Given the description of an element on the screen output the (x, y) to click on. 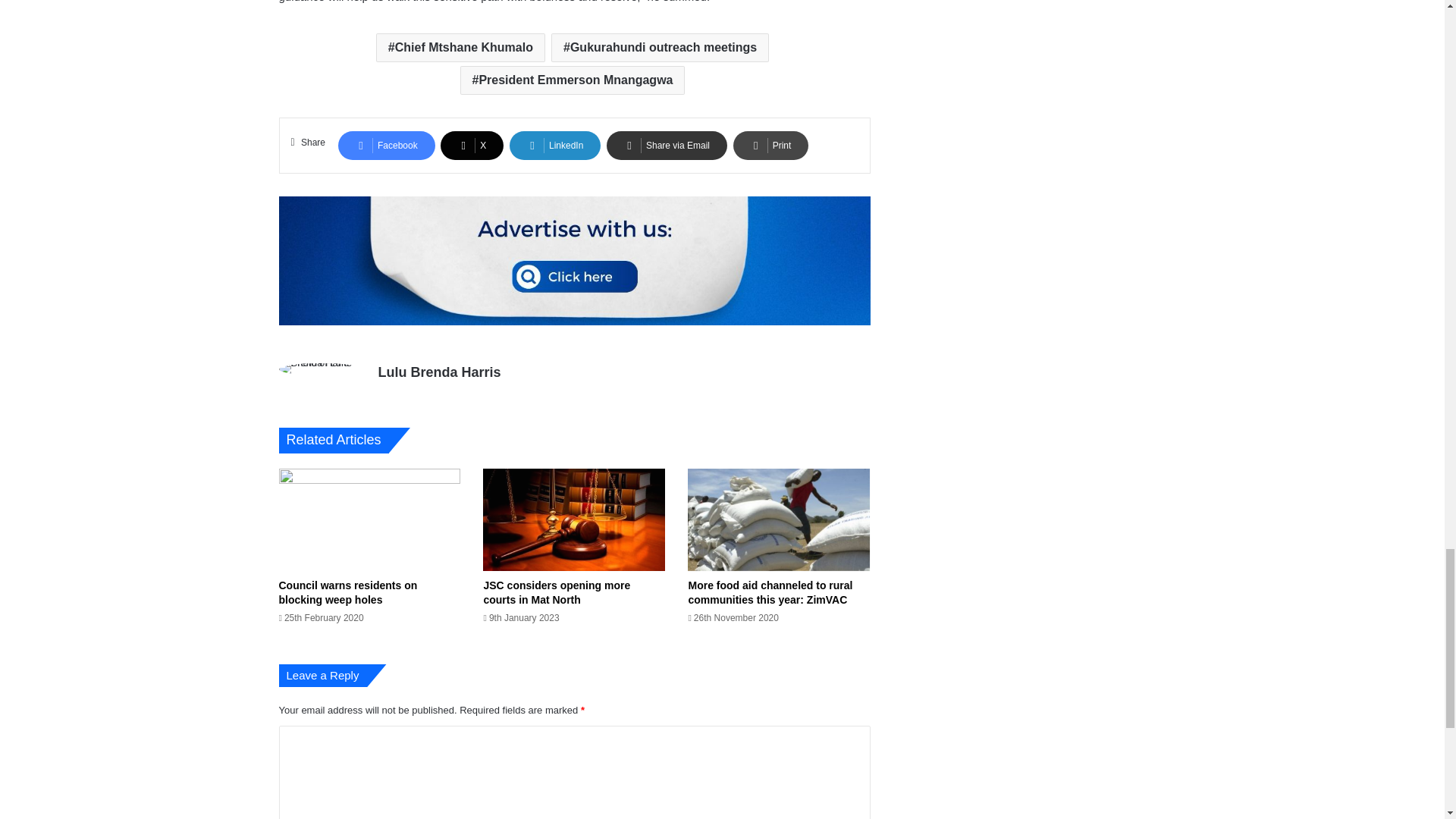
Chief Mtshane Khumalo (459, 47)
LinkedIn (554, 145)
President Emmerson Mnangagwa (572, 80)
X (472, 145)
Gukurahundi outreach meetings (659, 47)
Facebook (386, 145)
